Given the description of an element on the screen output the (x, y) to click on. 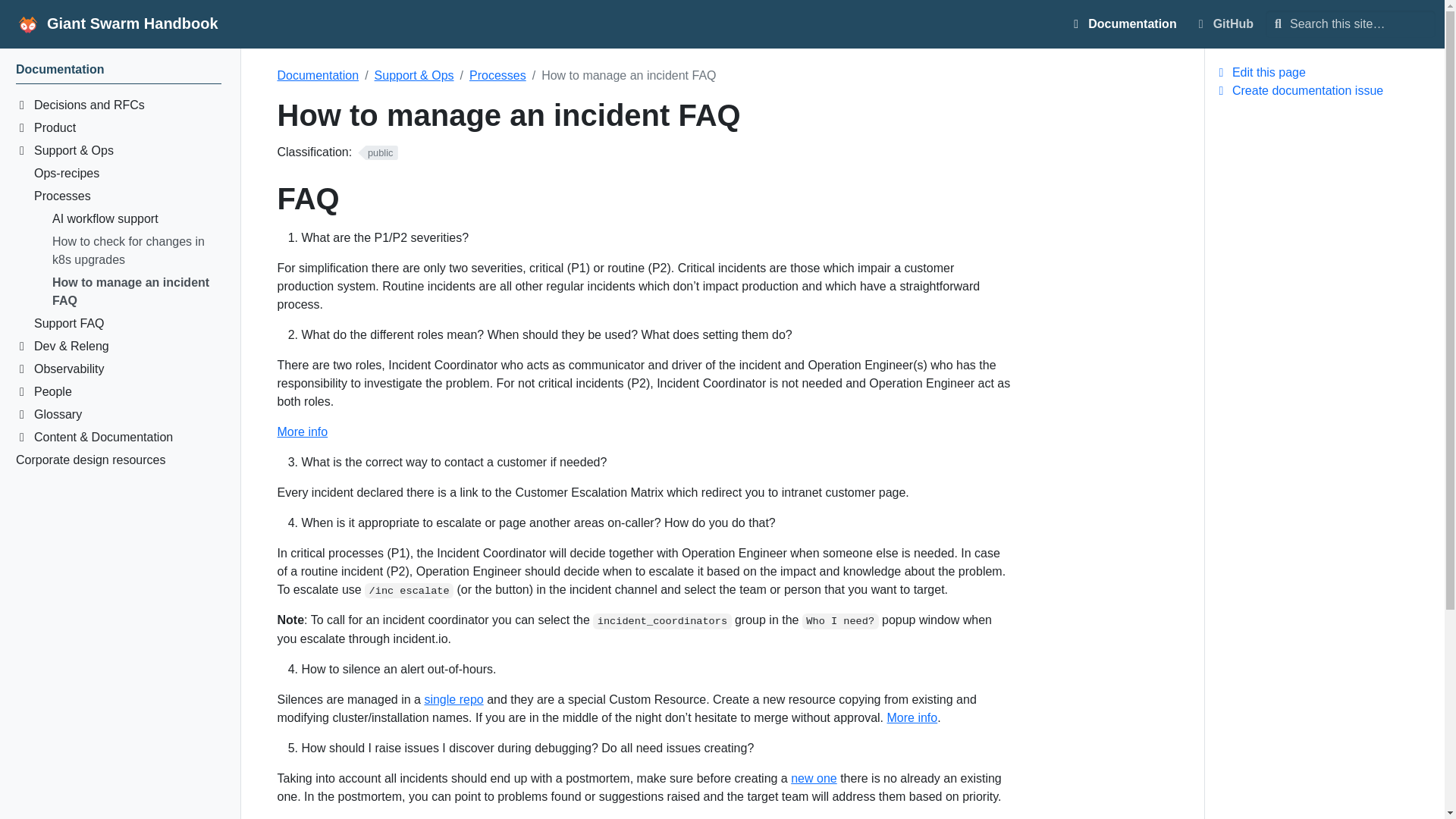
Processes (127, 198)
How to check for changes in k8s upgrades (136, 252)
AI workflow support (136, 220)
Support FAQ (127, 325)
Development and release engineering (118, 348)
Product (118, 129)
Documentation (1123, 24)
How to manage an incident FAQ (136, 293)
Documentation (118, 72)
GitHub (1164, 24)
Ops-recipes (1224, 24)
Decisions and RFCs (127, 175)
